Given the description of an element on the screen output the (x, y) to click on. 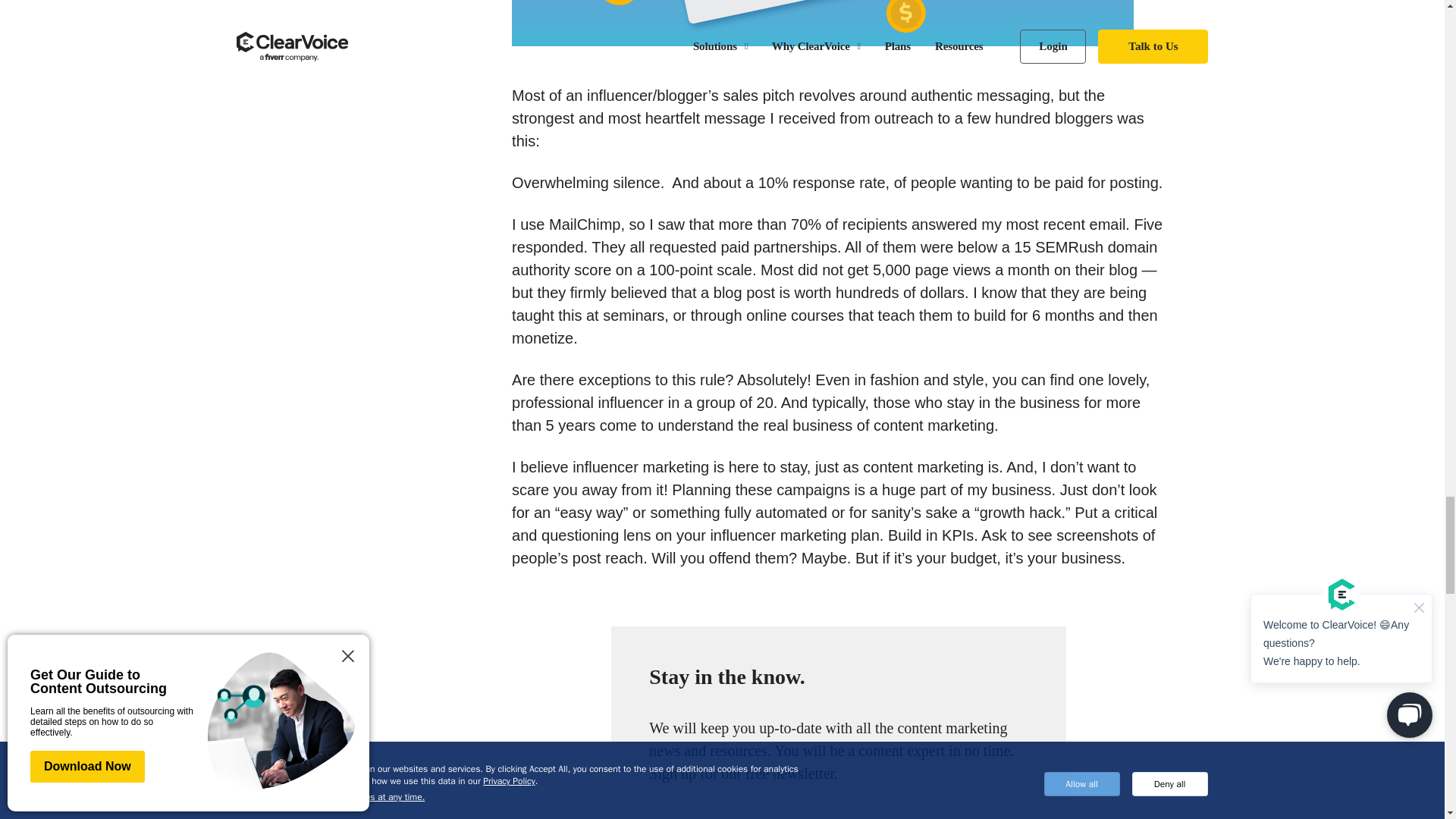
Form 0 (838, 807)
